Given the description of an element on the screen output the (x, y) to click on. 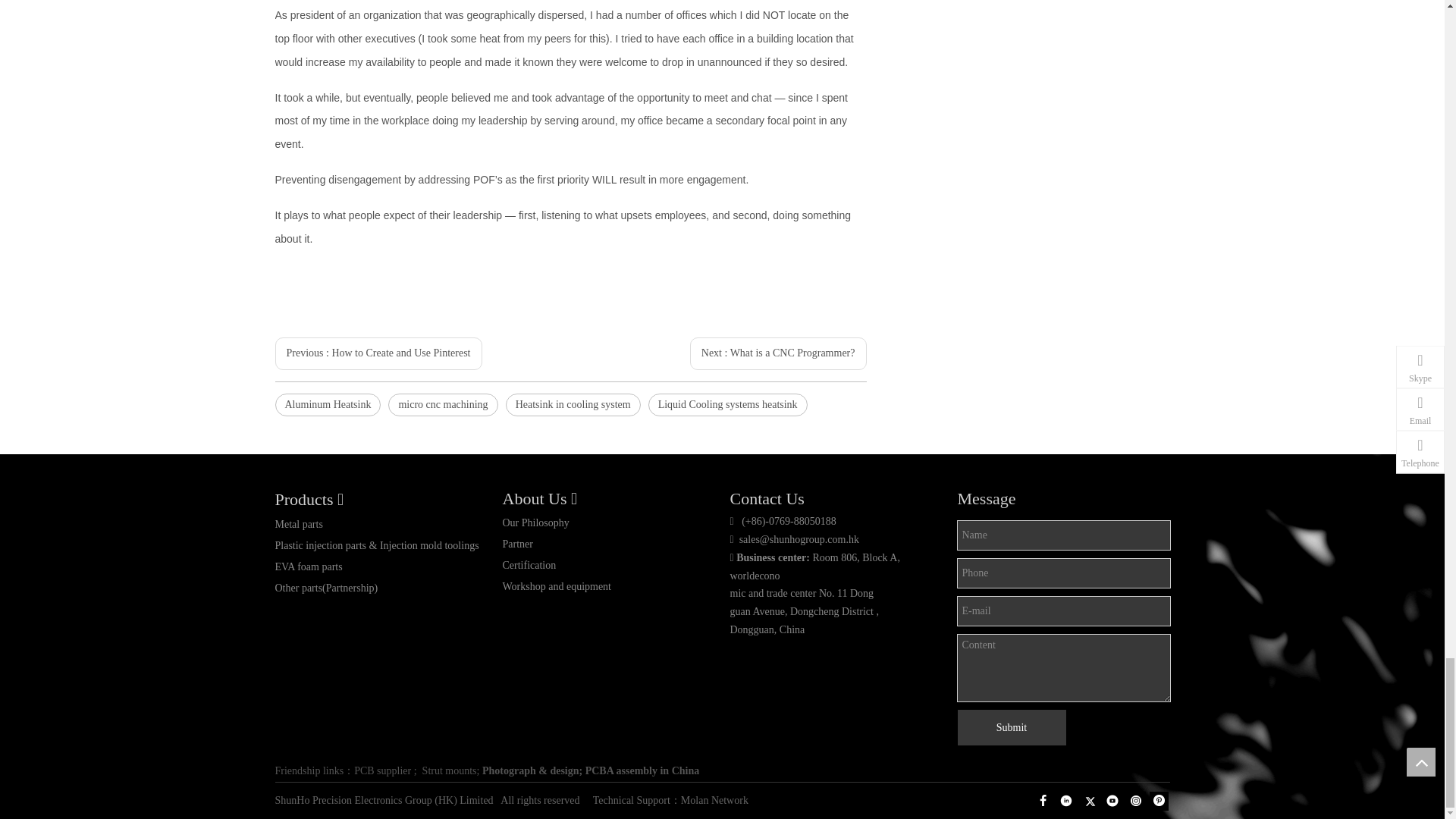
Partner (517, 543)
Our Philosophy (535, 522)
micro cnc machining (442, 404)
Heatsink in cooling system (572, 404)
Aluminum Heatsink (327, 404)
Metal parts (298, 523)
Liquid Cooling systems heatsink (727, 404)
EVA foam parts (308, 566)
